Given the description of an element on the screen output the (x, y) to click on. 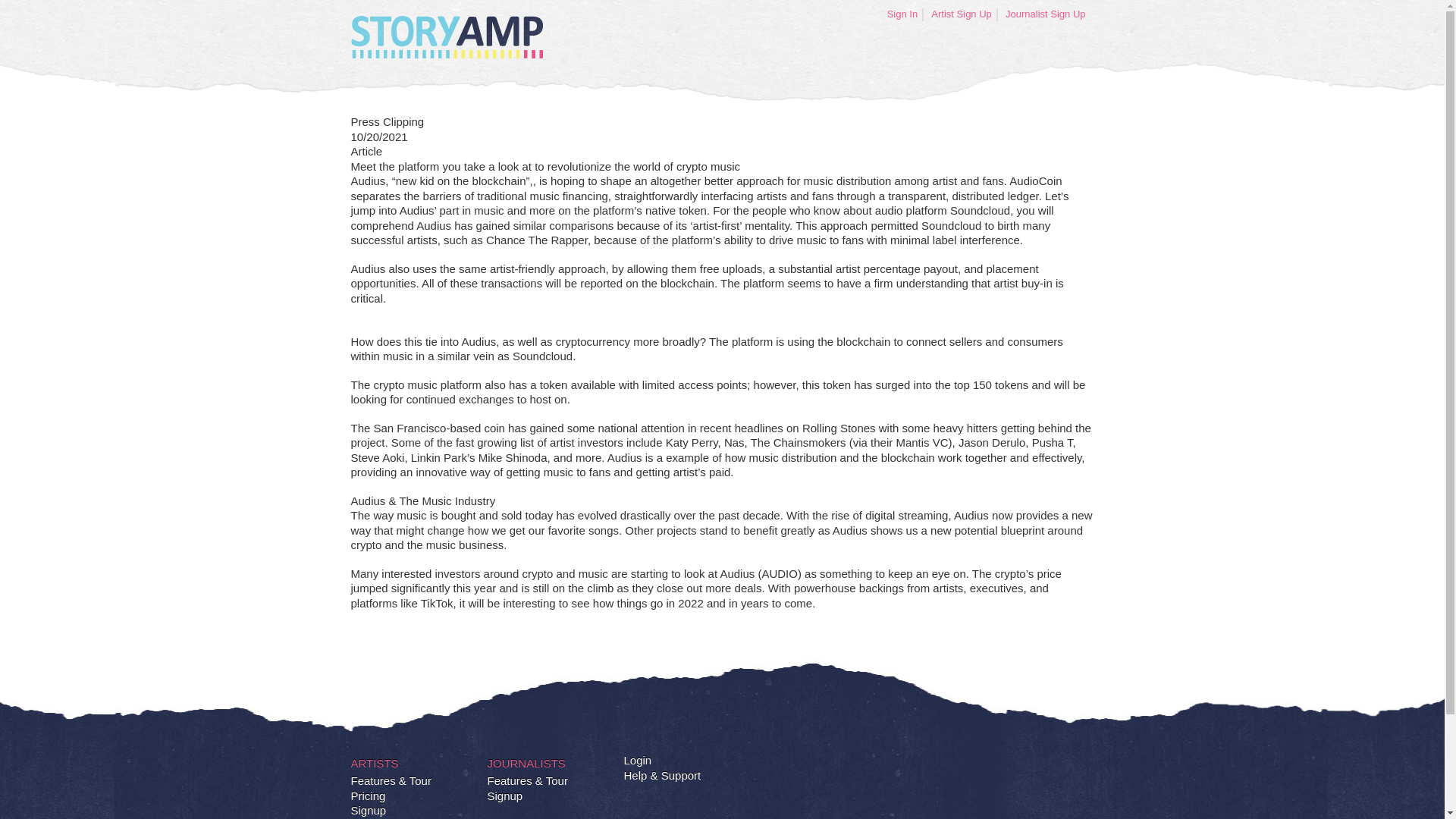
Sign In (902, 14)
Journalist Sign Up (1045, 14)
JOURNALISTS (525, 762)
Signup (367, 810)
Pricing (367, 795)
Signup (504, 795)
Login (636, 760)
ARTISTS (373, 762)
Artist Sign Up (961, 14)
